Given the description of an element on the screen output the (x, y) to click on. 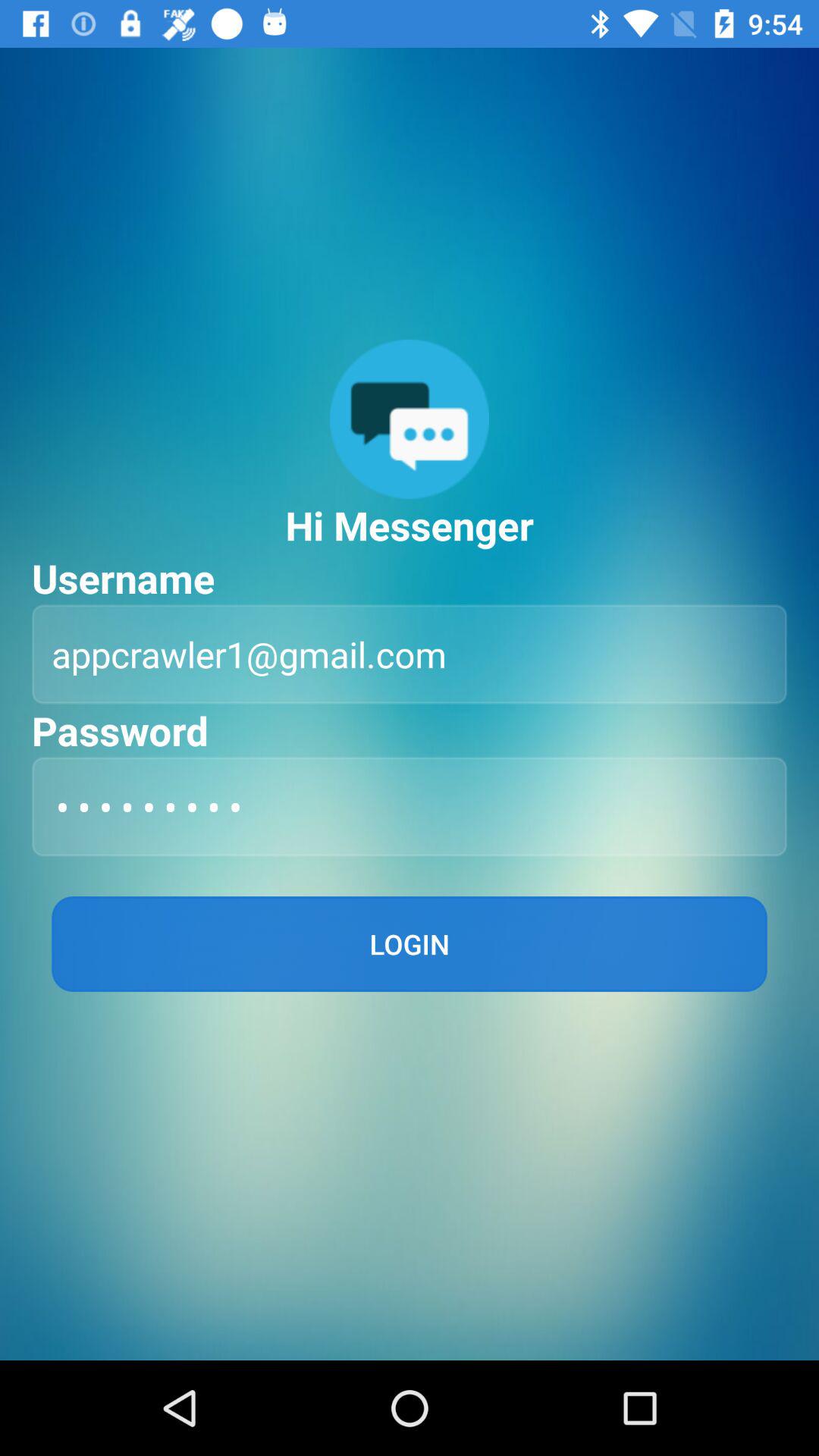
select item above the password item (409, 654)
